Given the description of an element on the screen output the (x, y) to click on. 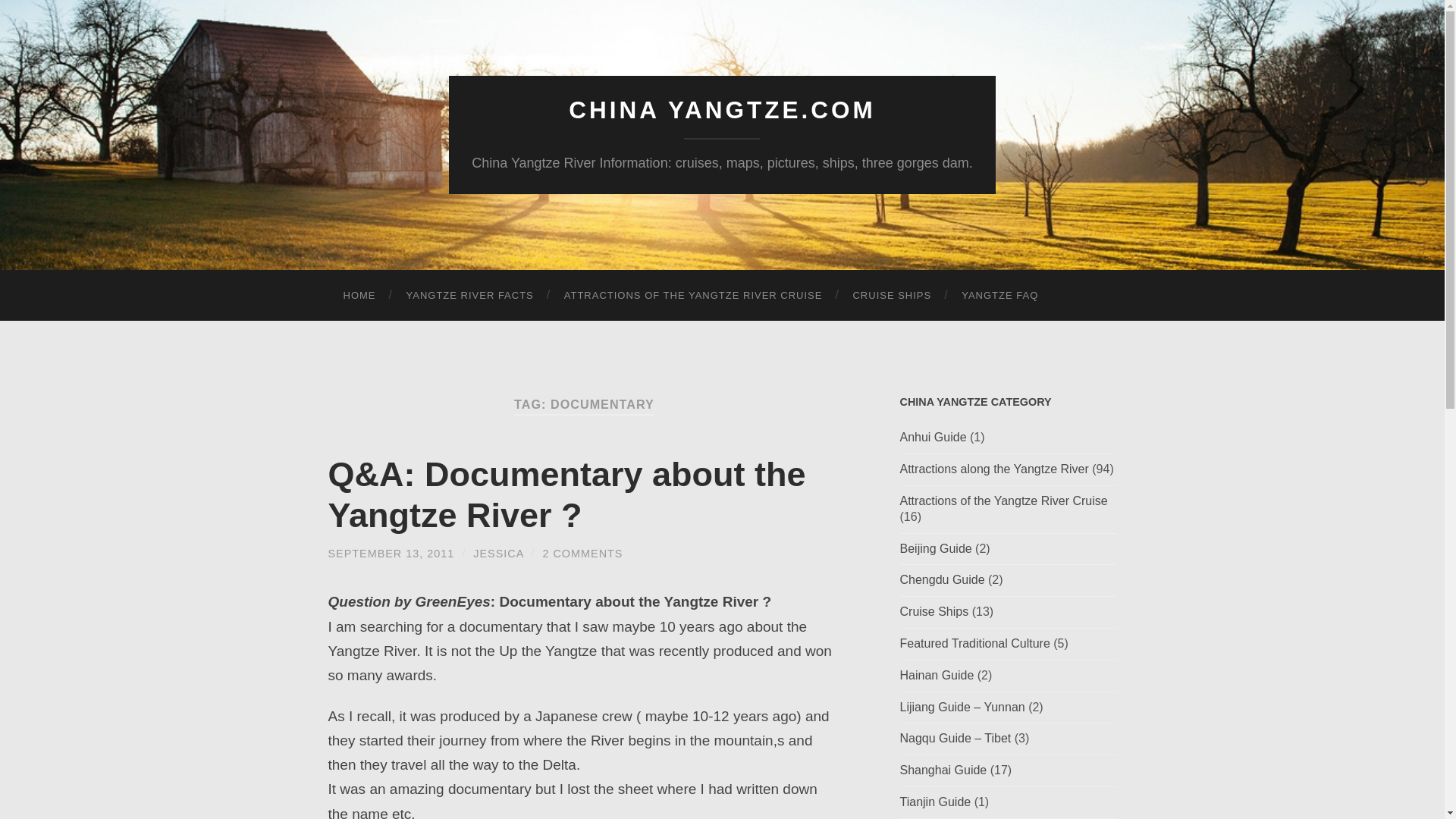
ATTRACTIONS OF THE YANGTZE RIVER CRUISE (693, 295)
JESSICA (497, 553)
CHINA YANGTZE.COM (722, 109)
Shanghai Guide (943, 769)
Attractions along the Yangtze River (993, 468)
YANGTZE RIVER FACTS (469, 295)
Posts by jessica (497, 553)
CRUISE SHIPS (891, 295)
Chengdu Guide (941, 579)
Hainan Guide (936, 675)
